Given the description of an element on the screen output the (x, y) to click on. 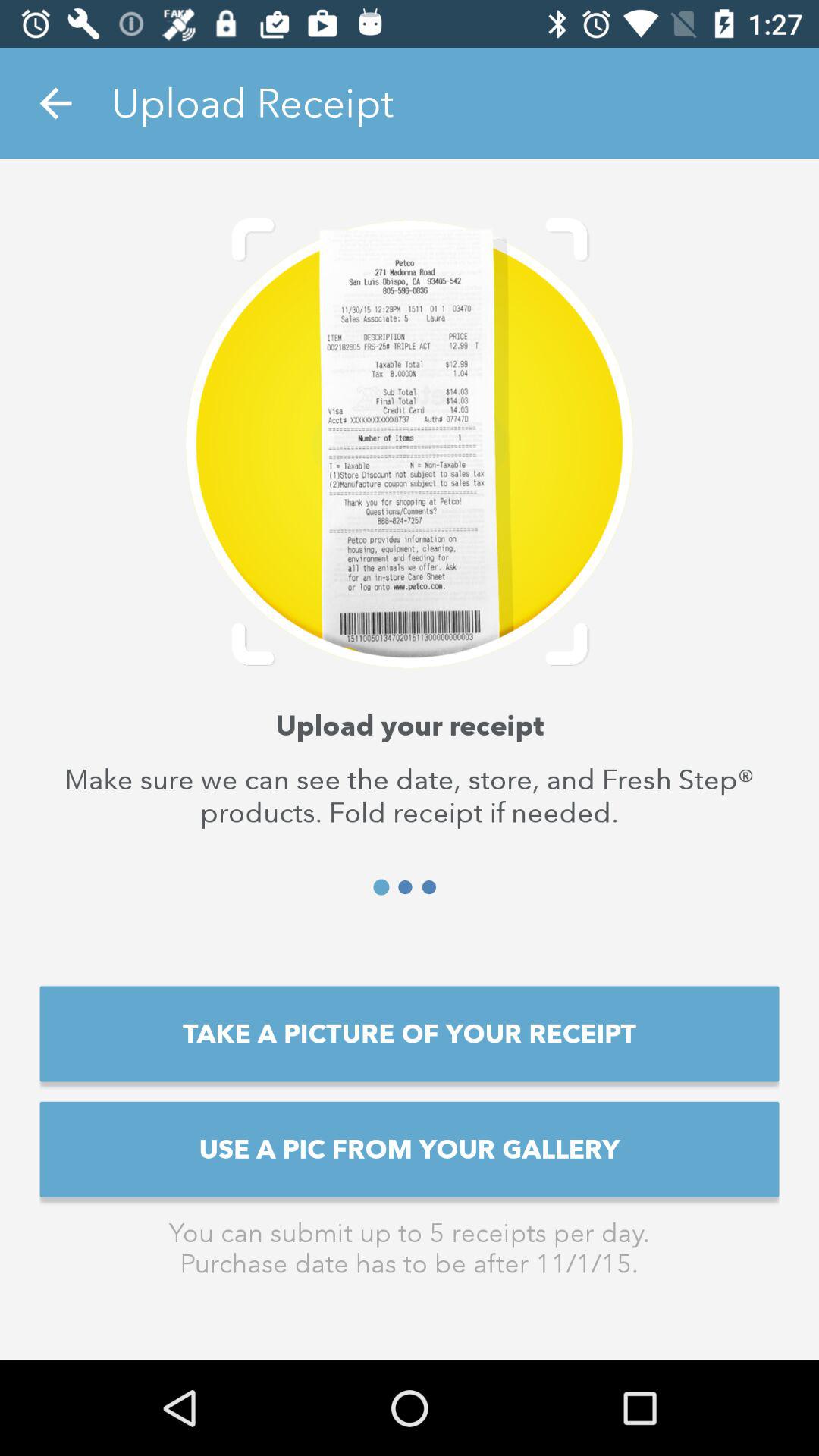
select the item at the top left corner (55, 103)
